Given the description of an element on the screen output the (x, y) to click on. 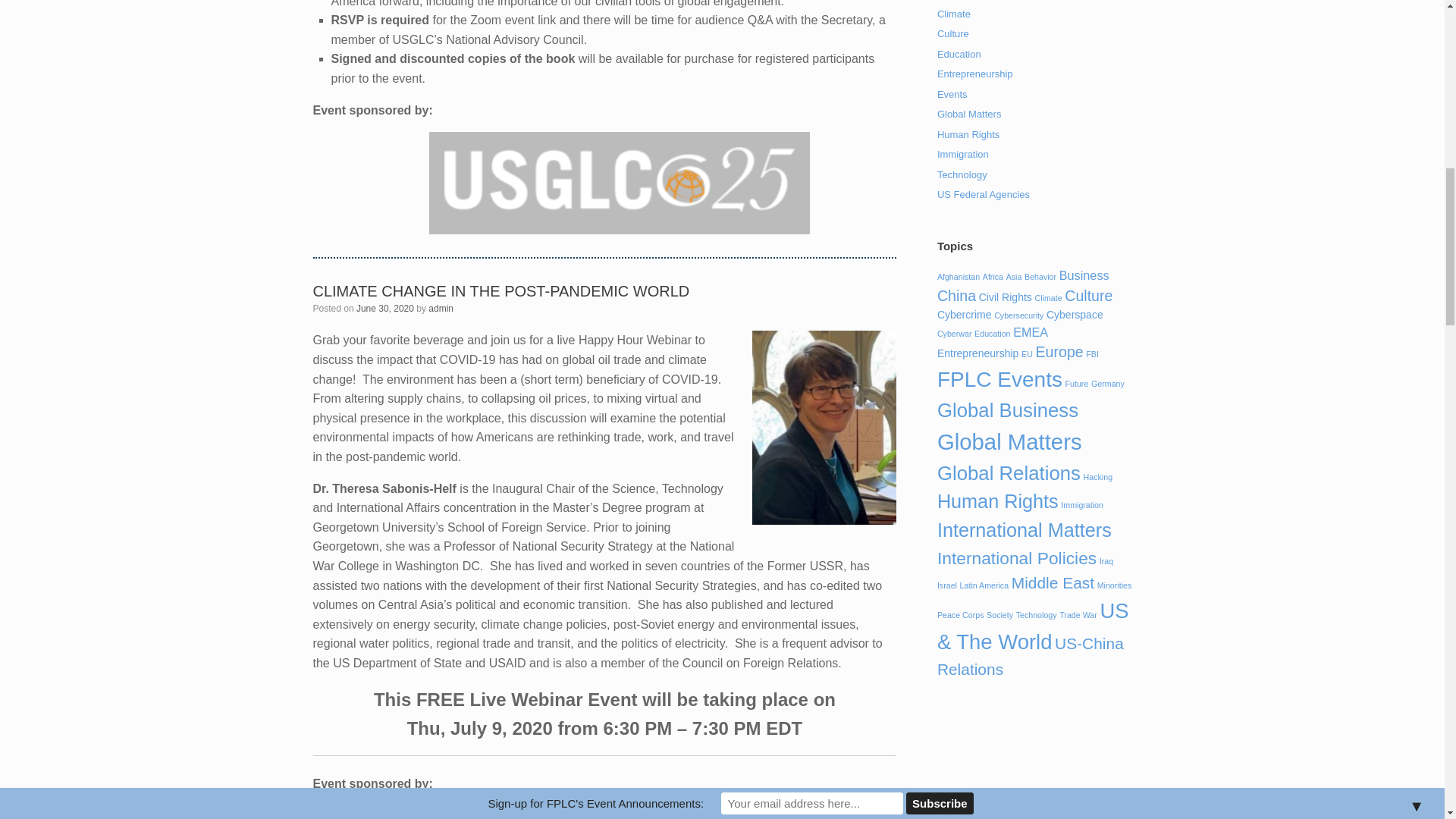
7:16 pm (384, 308)
Climate (954, 13)
Permalink to Climate Change in the Post-Pandemic World (500, 290)
Culture (953, 33)
June 30, 2020 (384, 308)
Education (959, 53)
CLIMATE CHANGE IN THE POST-PANDEMIC WORLD (500, 290)
admin (440, 308)
View all posts by admin (440, 308)
